Given the description of an element on the screen output the (x, y) to click on. 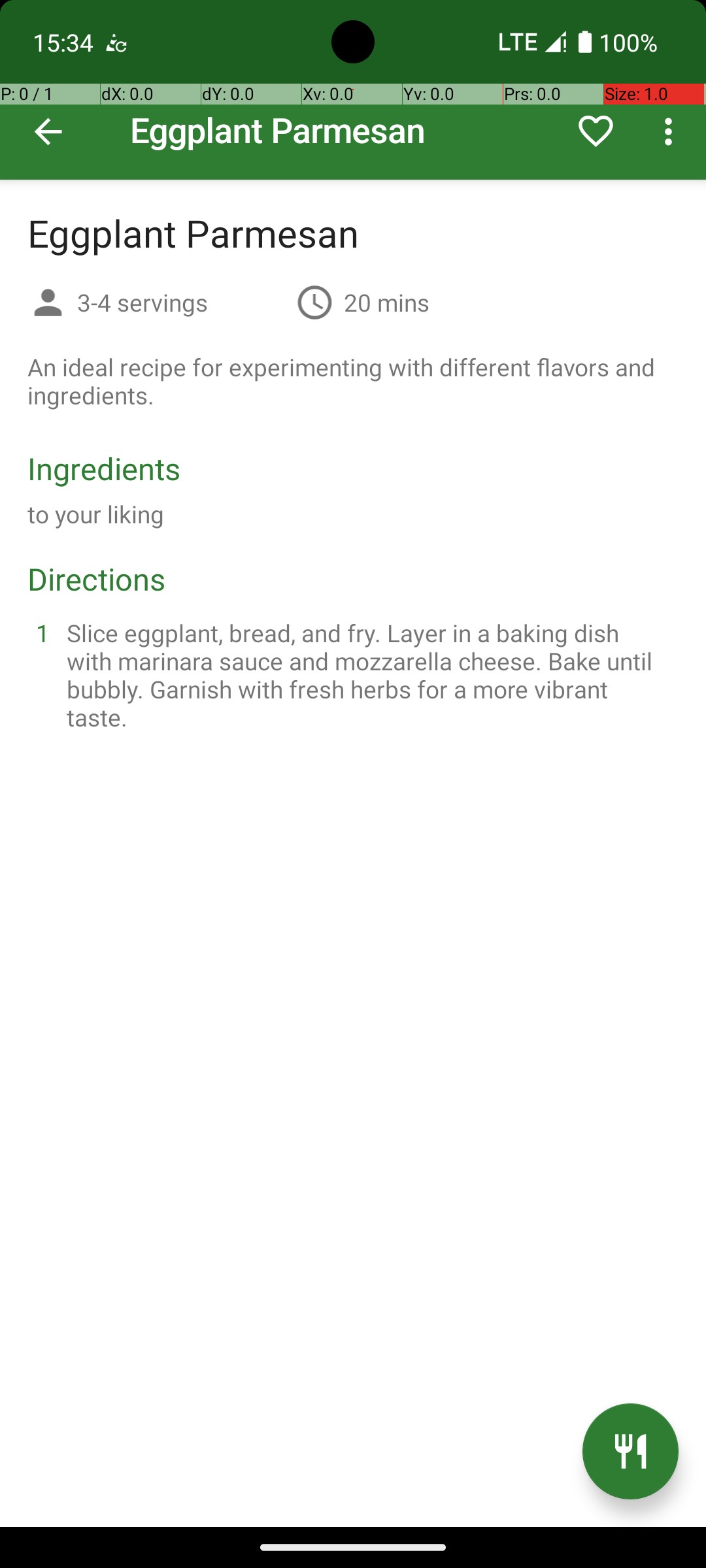
to your liking Element type: android.widget.TextView (95, 513)
Slice eggplant, bread, and fry. Layer in a baking dish with marinara sauce and mozzarella cheese. Bake until bubbly. Garnish with fresh herbs for a more vibrant taste. Element type: android.widget.TextView (368, 674)
